Given the description of an element on the screen output the (x, y) to click on. 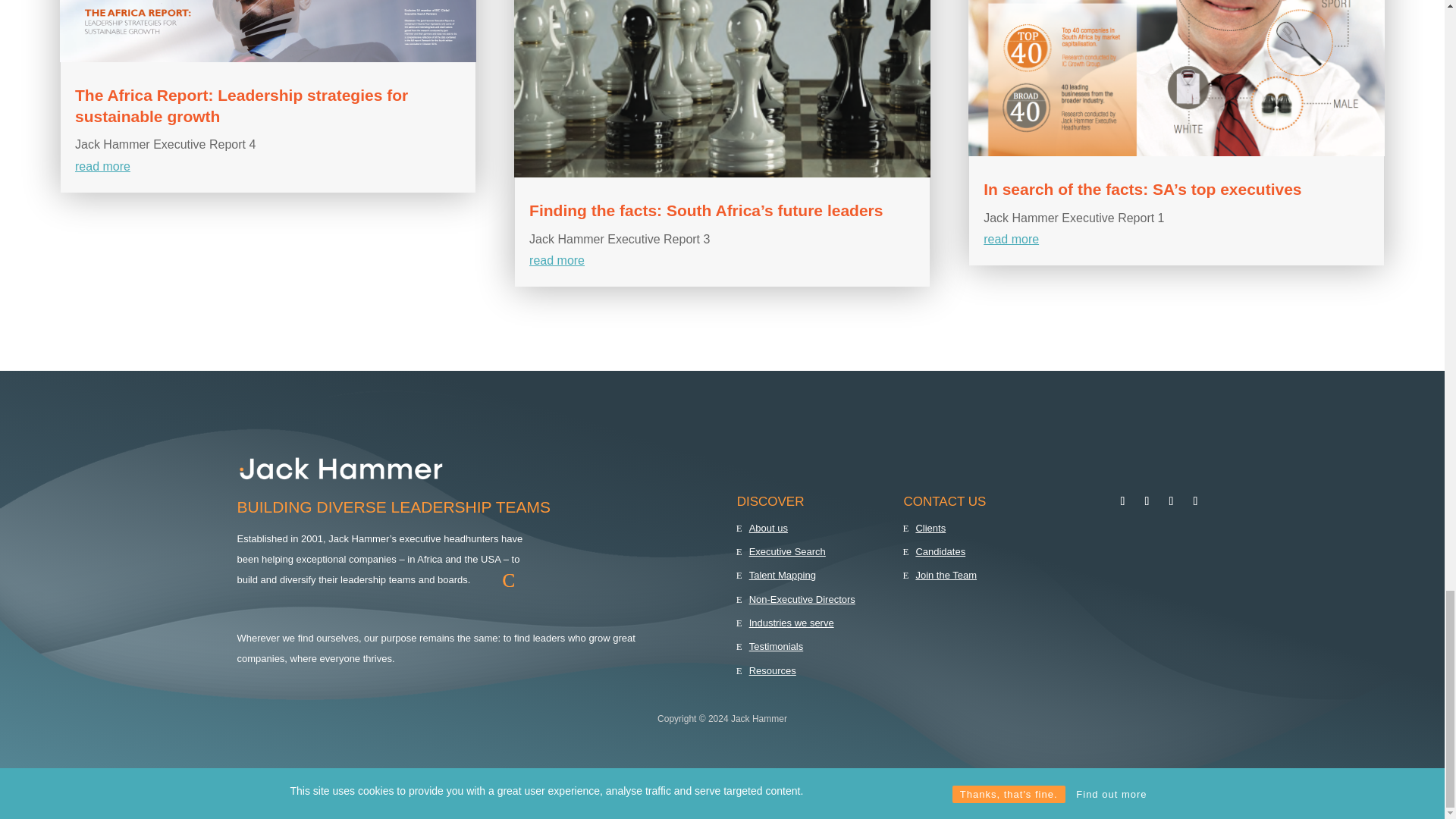
Follow on Facebook (1121, 500)
Follow on X (1146, 500)
Follow on LinkedIn (1171, 500)
Follow on Youtube (1194, 500)
